Given the description of an element on the screen output the (x, y) to click on. 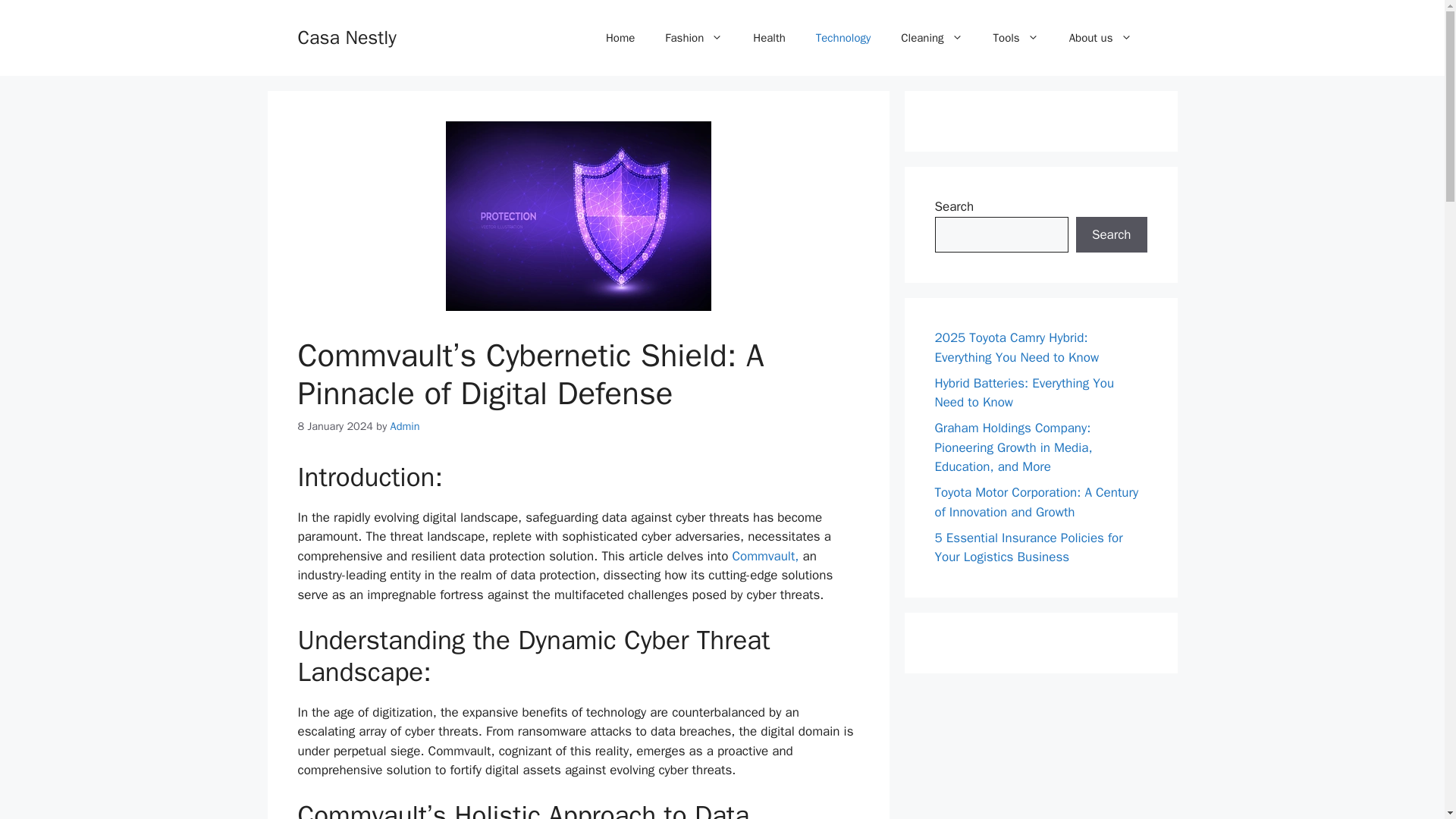
Hybrid Batteries: Everything You Need to Know (1023, 392)
Tools (1016, 37)
View all posts by Admin (405, 426)
Commvault, (762, 555)
Health (769, 37)
5 Essential Insurance Policies for Your Logistics Business (1028, 547)
Casa Nestly (346, 37)
Cleaning (930, 37)
2025 Toyota Camry Hybrid: Everything You Need to Know (1016, 347)
Fashion (693, 37)
Search (1111, 235)
About us (1100, 37)
Toyota Motor Corporation: A Century of Innovation and Growth (1036, 502)
Technology (843, 37)
